Given the description of an element on the screen output the (x, y) to click on. 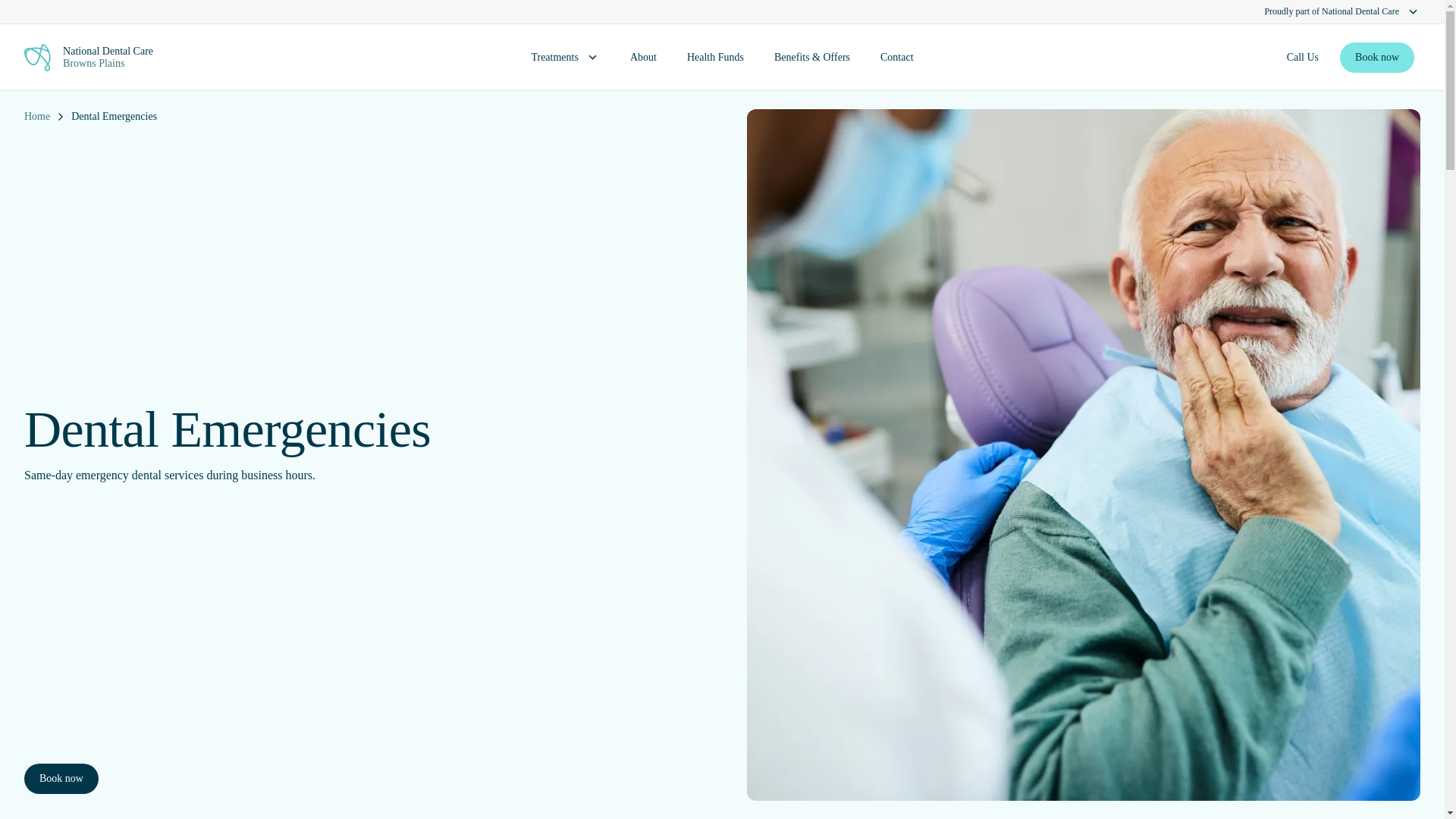
Home (36, 116)
Contact (896, 57)
Proudly part of National Dental Care (722, 11)
About (642, 57)
Book now (191, 57)
Treatments (1376, 57)
Call Us (564, 57)
Health Funds (1302, 57)
Book now (714, 57)
